Given the description of an element on the screen output the (x, y) to click on. 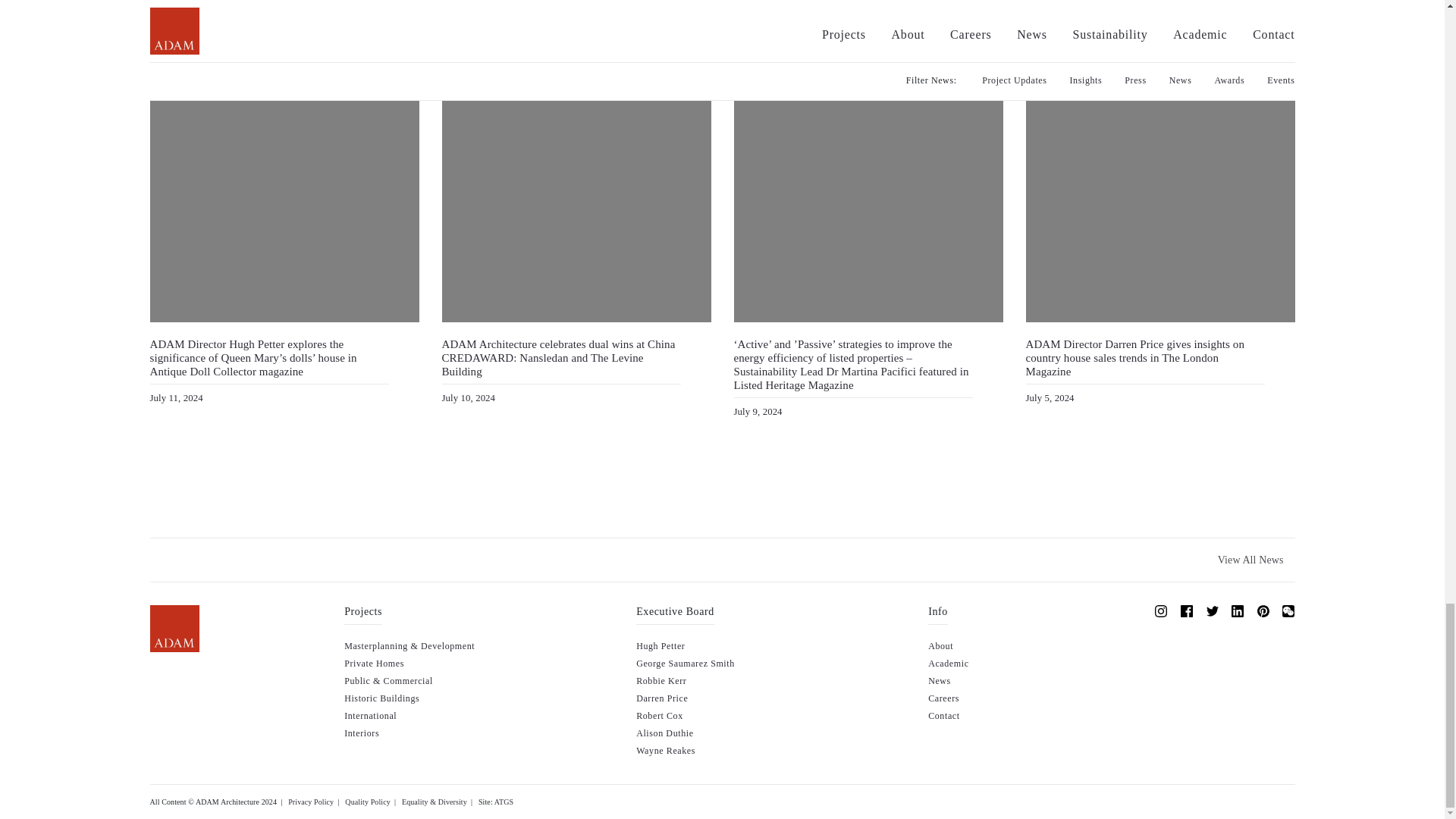
International (369, 715)
Hugh Petter (660, 645)
Interiors (360, 733)
View All News (1251, 559)
Alison Duthie (664, 733)
Private Homes (373, 663)
Historic Buildings (381, 697)
George Saumarez Smith (685, 663)
Hugh Petter (660, 645)
